Given the description of an element on the screen output the (x, y) to click on. 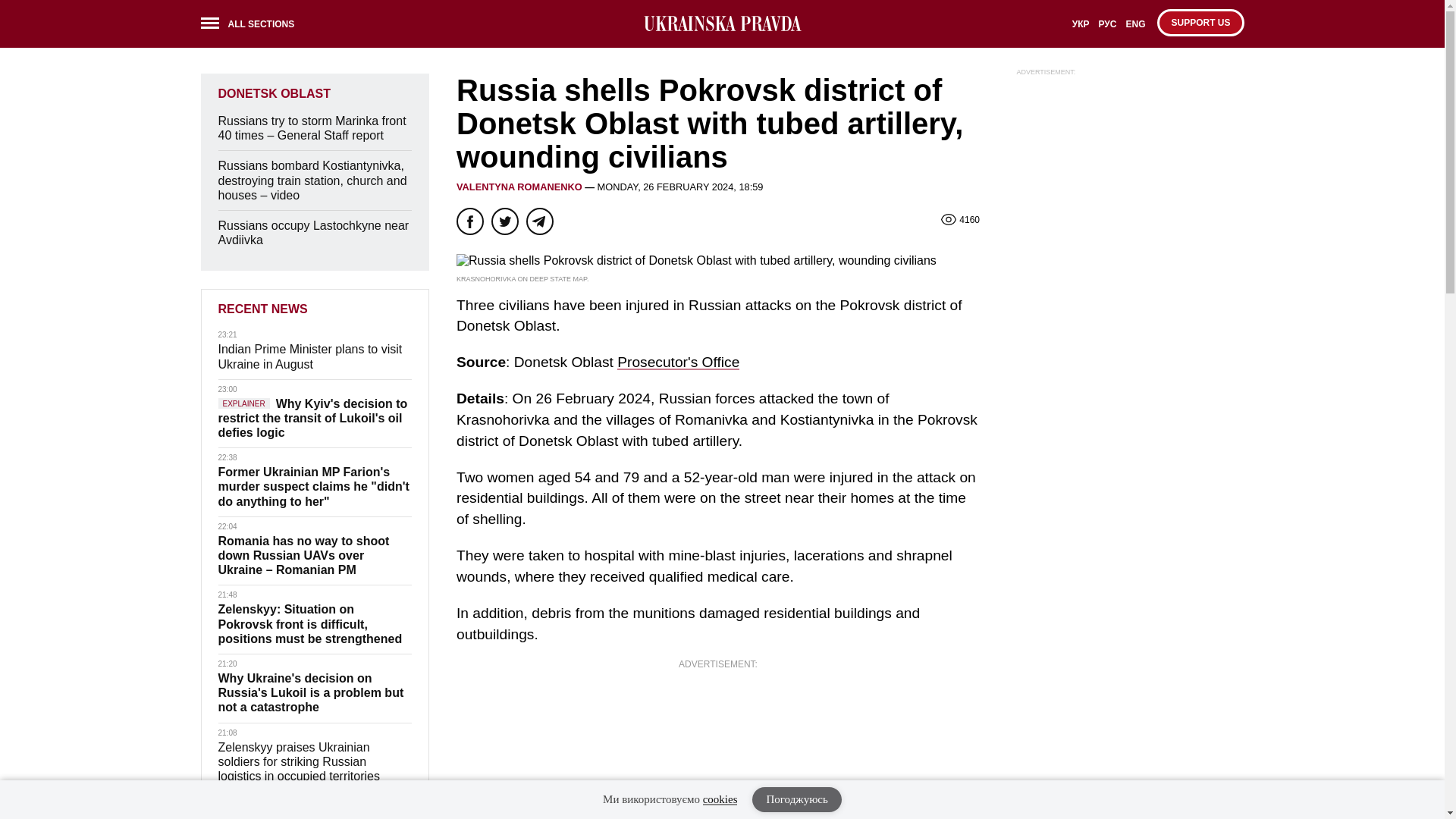
Prosecutor's Office (678, 361)
VALENTYNA ROMANENKO (519, 186)
Ukrainska pravda (722, 23)
ALL SECTIONS (251, 26)
SUPPORT US (1200, 22)
ENG (1135, 28)
Ukrainska pravda (722, 24)
